Given the description of an element on the screen output the (x, y) to click on. 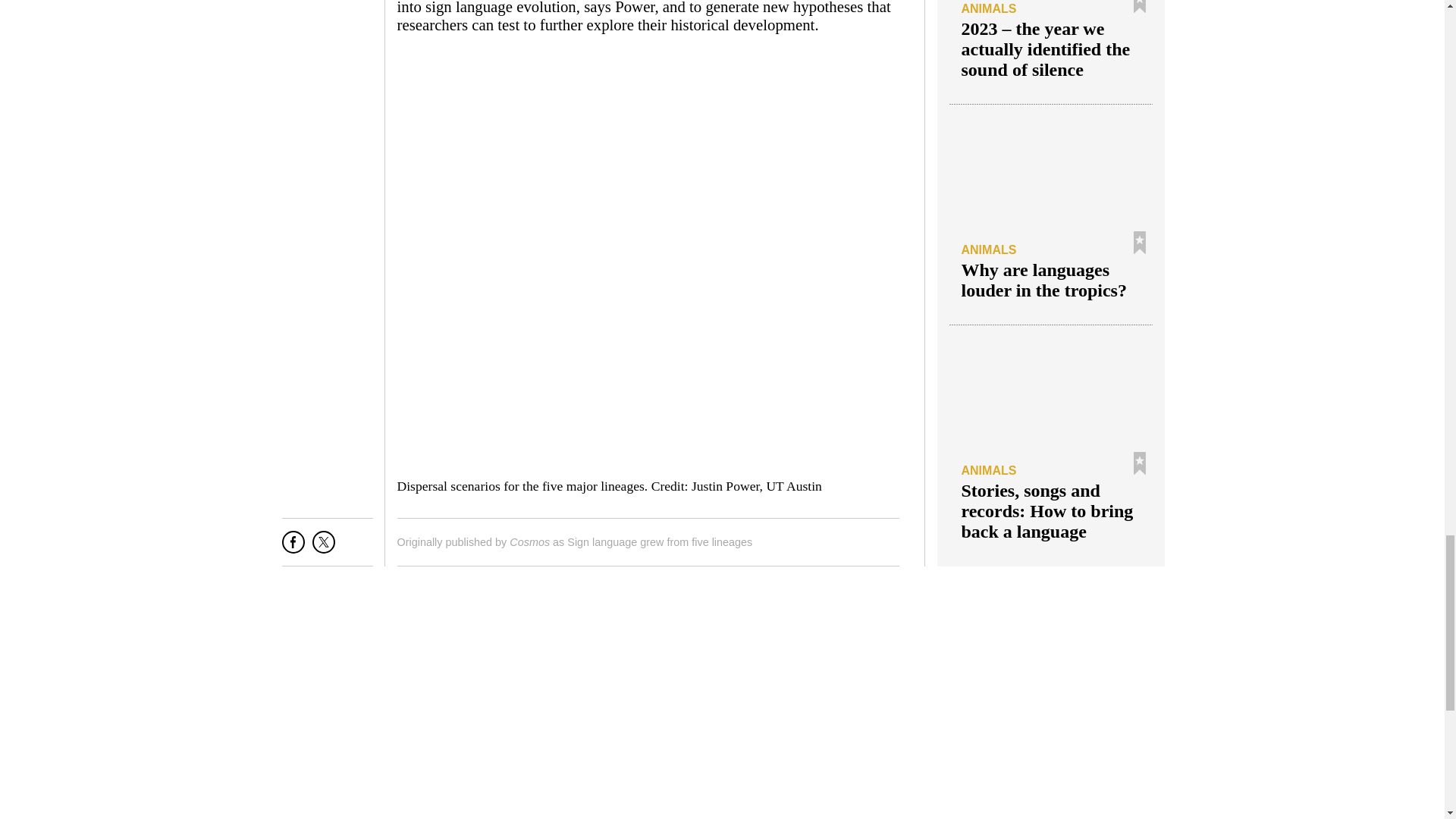
Share on Facebook (293, 547)
Tweet (323, 547)
Sign language grew from five lineages (659, 541)
